Given the description of an element on the screen output the (x, y) to click on. 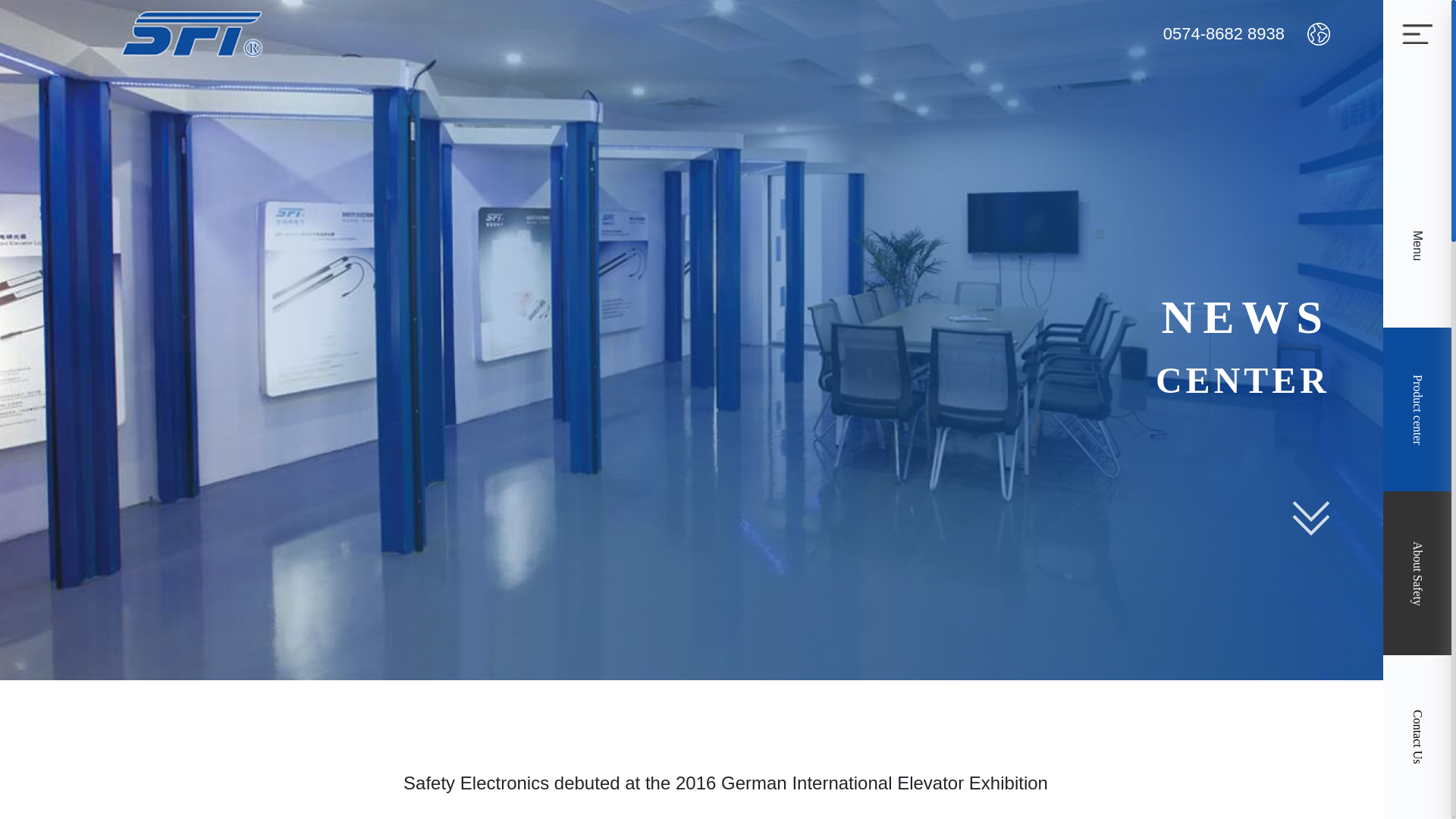
Contact Us (1416, 737)
Product center (1416, 409)
About Safety (1416, 573)
